Given the description of an element on the screen output the (x, y) to click on. 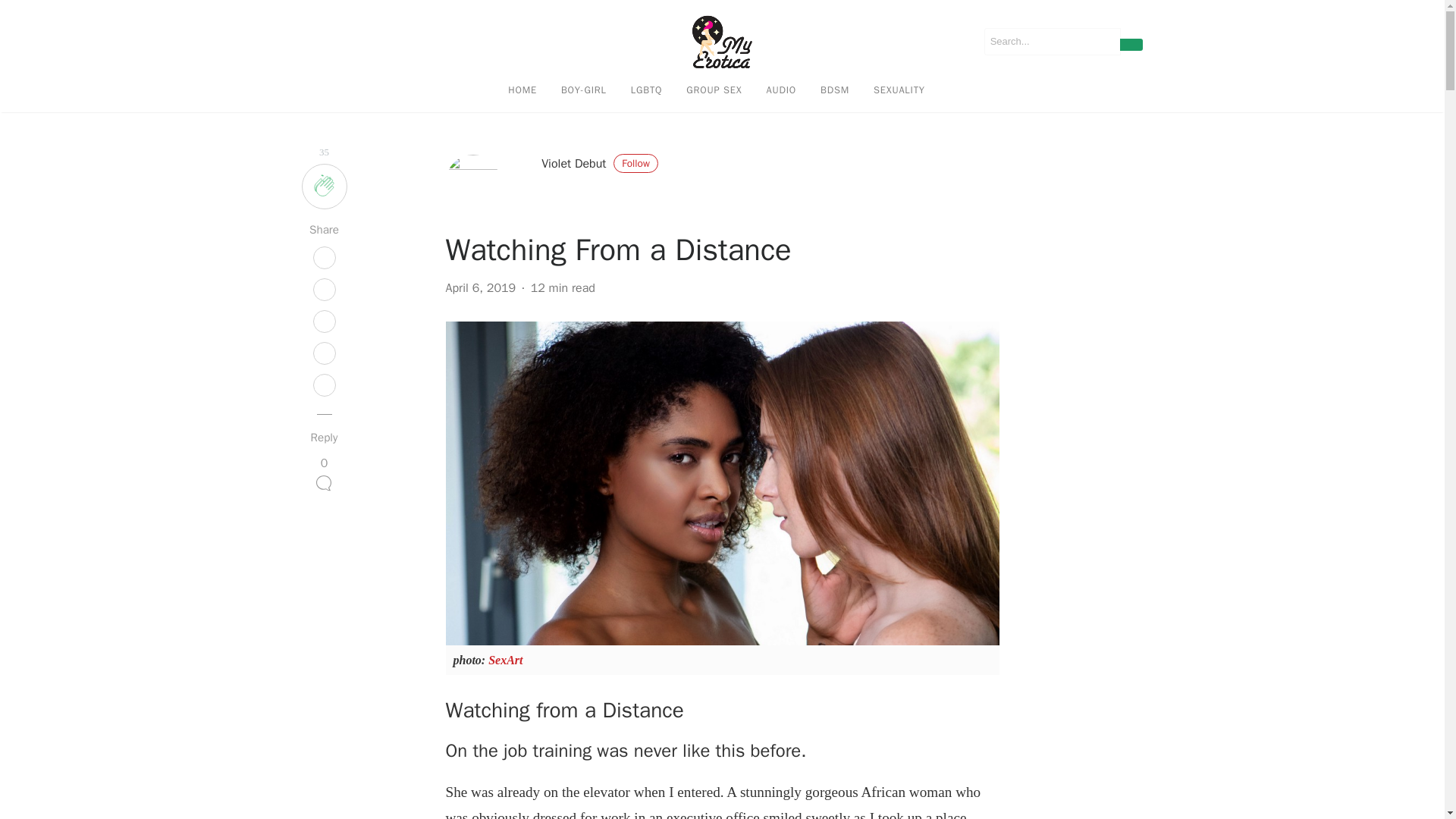
Violet Debut Follow (599, 163)
AUDIO (781, 89)
SEXUALITY (899, 89)
BOY-GIRL (583, 89)
SexArt (504, 659)
0 (323, 476)
HOME (522, 89)
LGBTQ (646, 89)
BDSM (834, 89)
GROUP SEX (714, 89)
0 (323, 476)
Search for: (1052, 41)
